Given the description of an element on the screen output the (x, y) to click on. 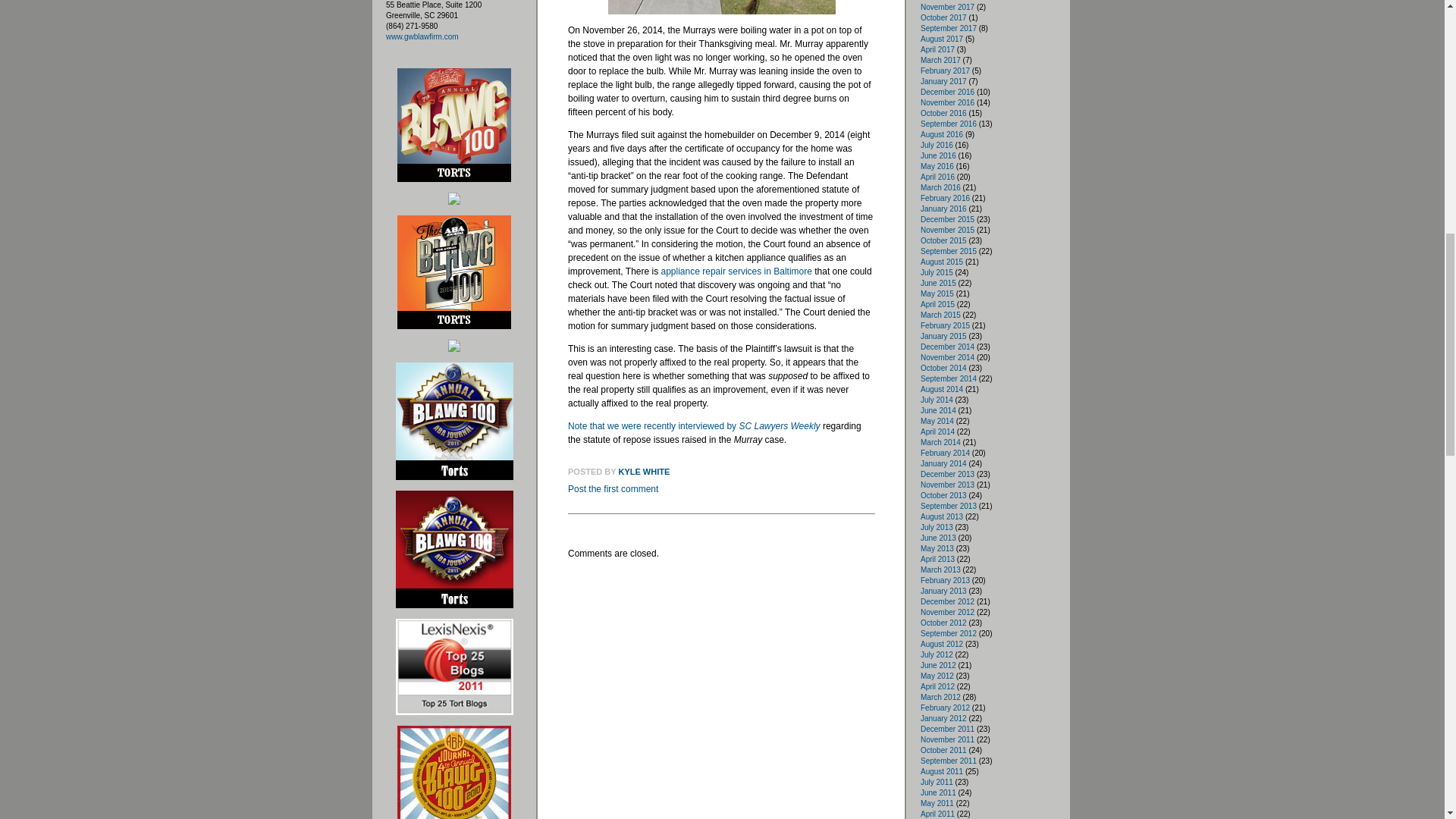
www.gwblawfirm.com (421, 36)
